Given the description of an element on the screen output the (x, y) to click on. 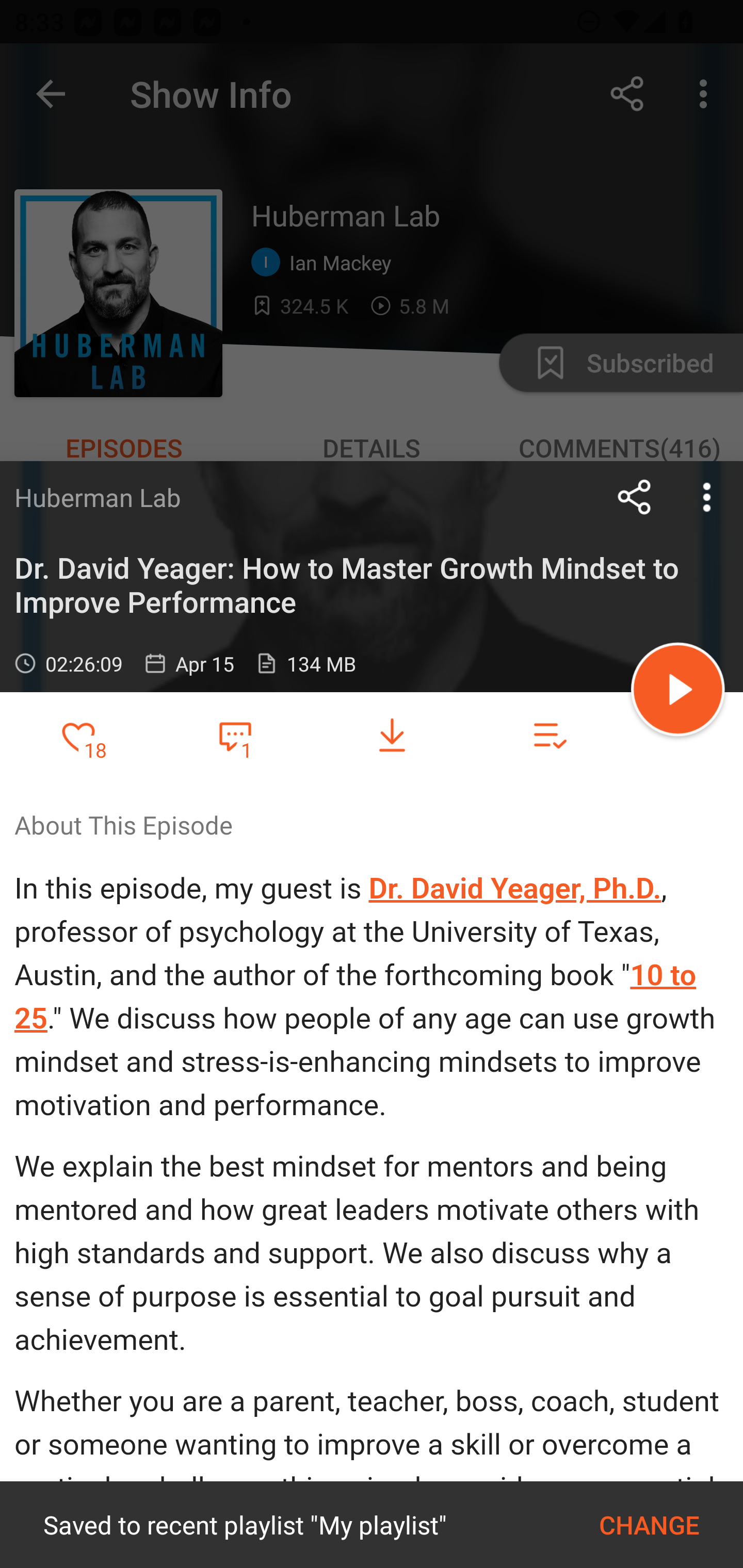
Share (634, 496)
more options (706, 496)
Play (677, 692)
1 Favorite (234, 735)
Add to Favorites (78, 735)
Download (391, 735)
Add to playlist (548, 735)
Dr. David Yeager, Ph.D. (515, 888)
10 to 25 (355, 997)
Saved to recent playlist "My playlist" CHANGE (371, 1524)
CHANGE (648, 1524)
